Given the description of an element on the screen output the (x, y) to click on. 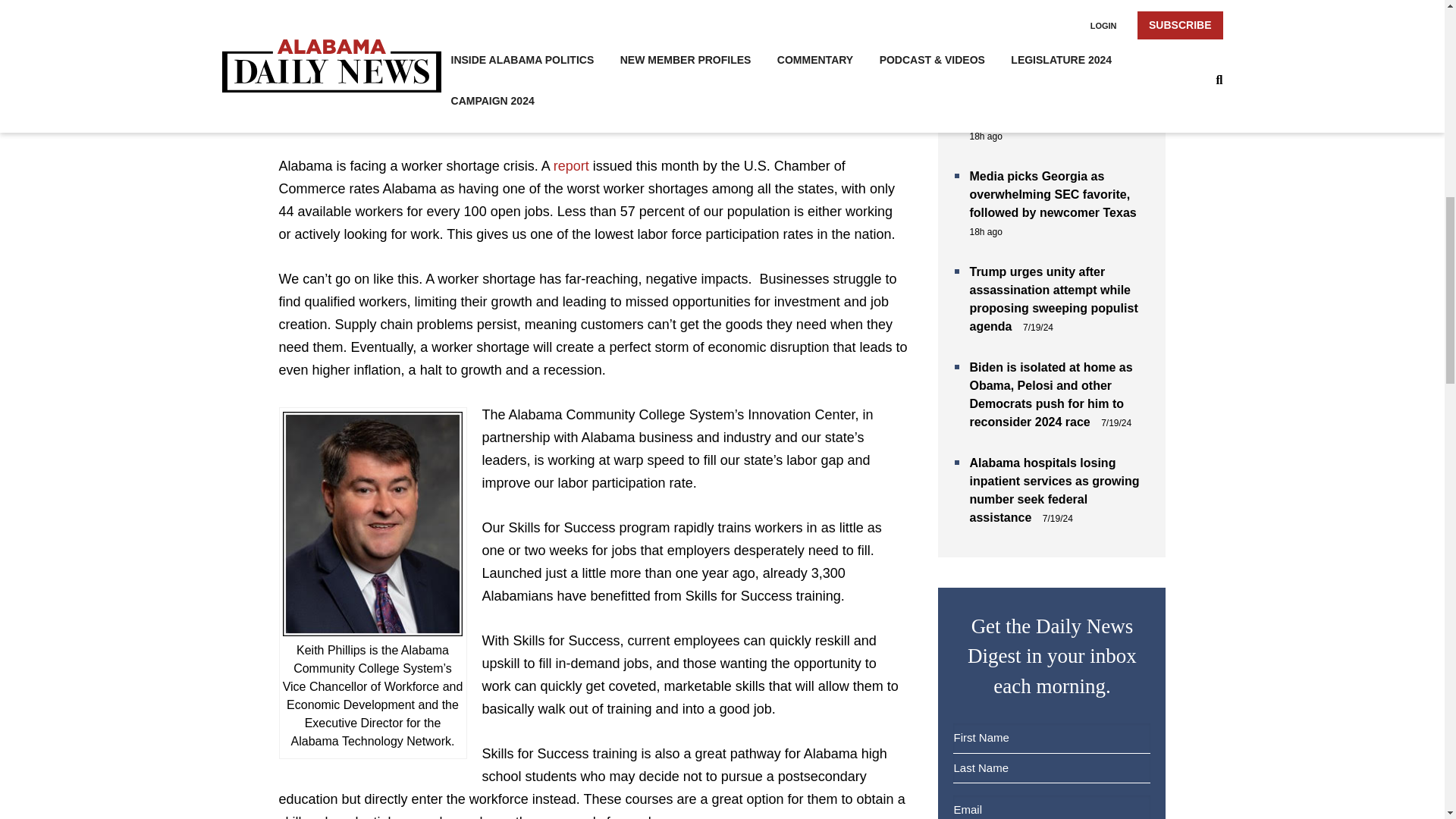
President Joe Biden drops out of race, endorses VP Harris (1056, 107)
President Joe Biden drops out of race, endorses VP Harris (1056, 107)
ALABAMA DAILY NEWS (389, 53)
report (571, 165)
